Given the description of an element on the screen output the (x, y) to click on. 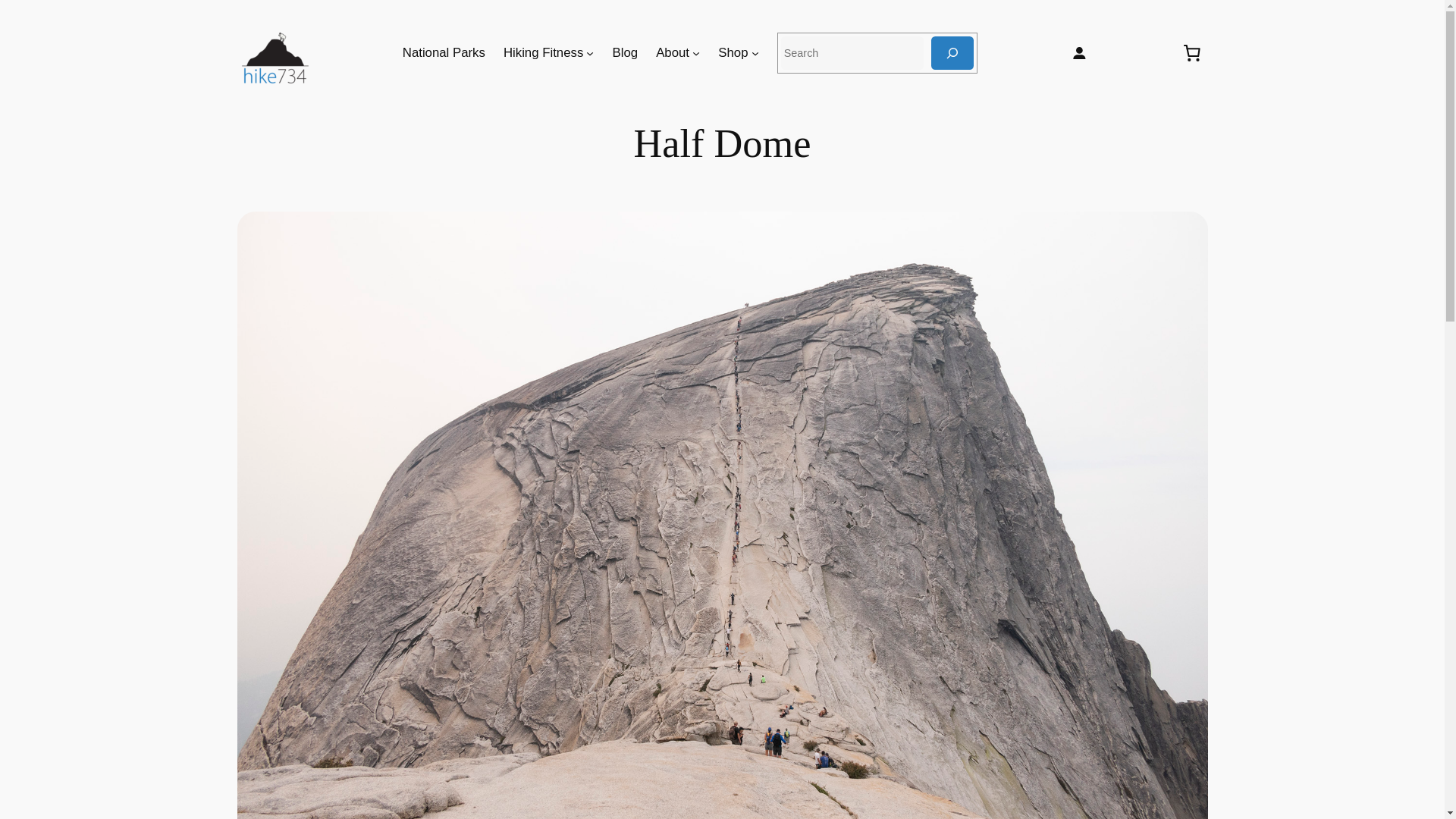
Hiking Fitness Posts (543, 53)
Blog (625, 53)
Shop (732, 53)
National Parks (443, 53)
About (672, 53)
Hiking Fitness (543, 53)
